Given the description of an element on the screen output the (x, y) to click on. 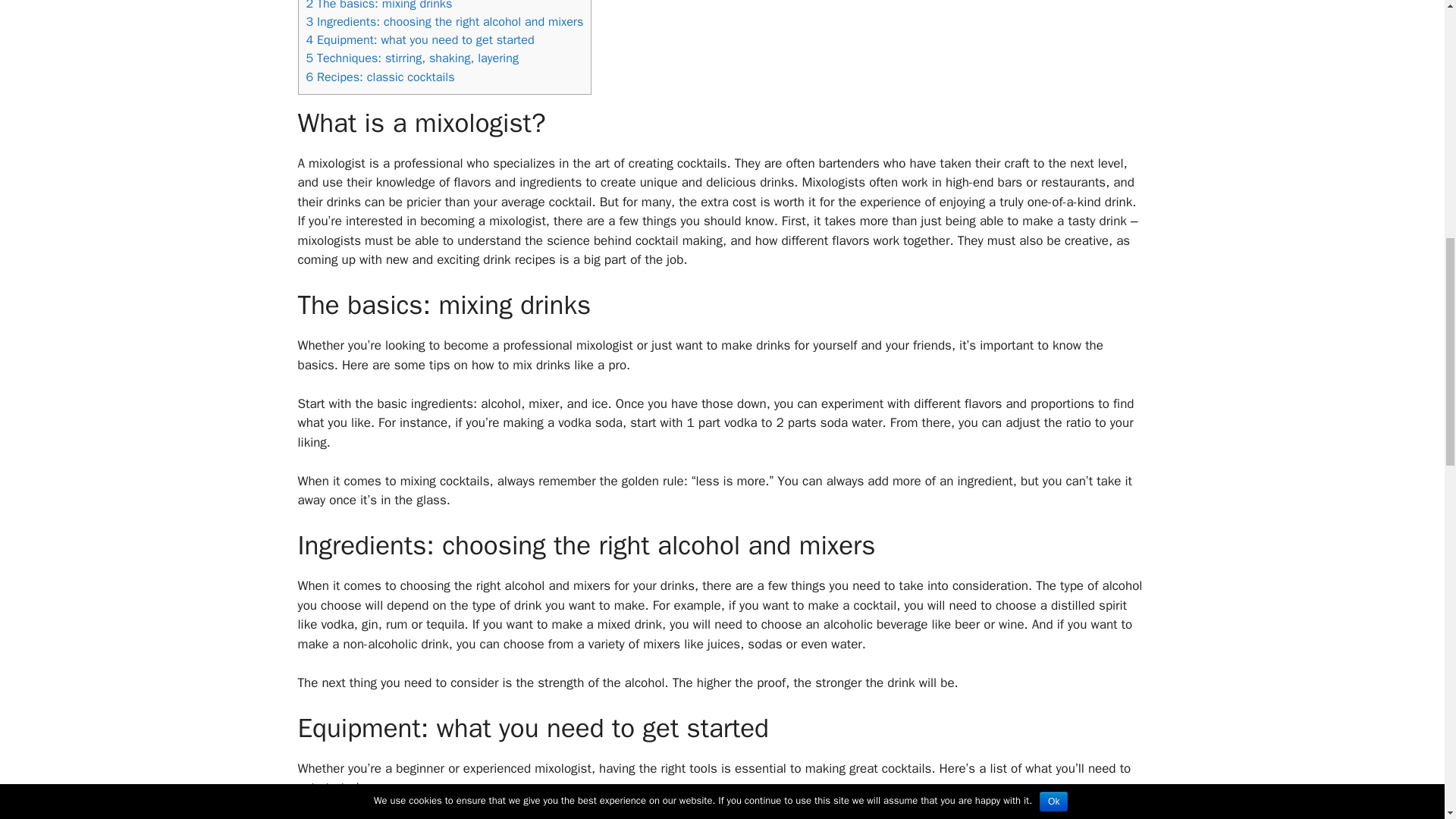
5 Techniques: stirring, shaking, layering (411, 57)
4 Equipment: what you need to get started (419, 39)
2 The basics: mixing drinks (378, 5)
3 Ingredients: choosing the right alcohol and mixers (444, 21)
6 Recipes: classic cocktails (379, 76)
